Given the description of an element on the screen output the (x, y) to click on. 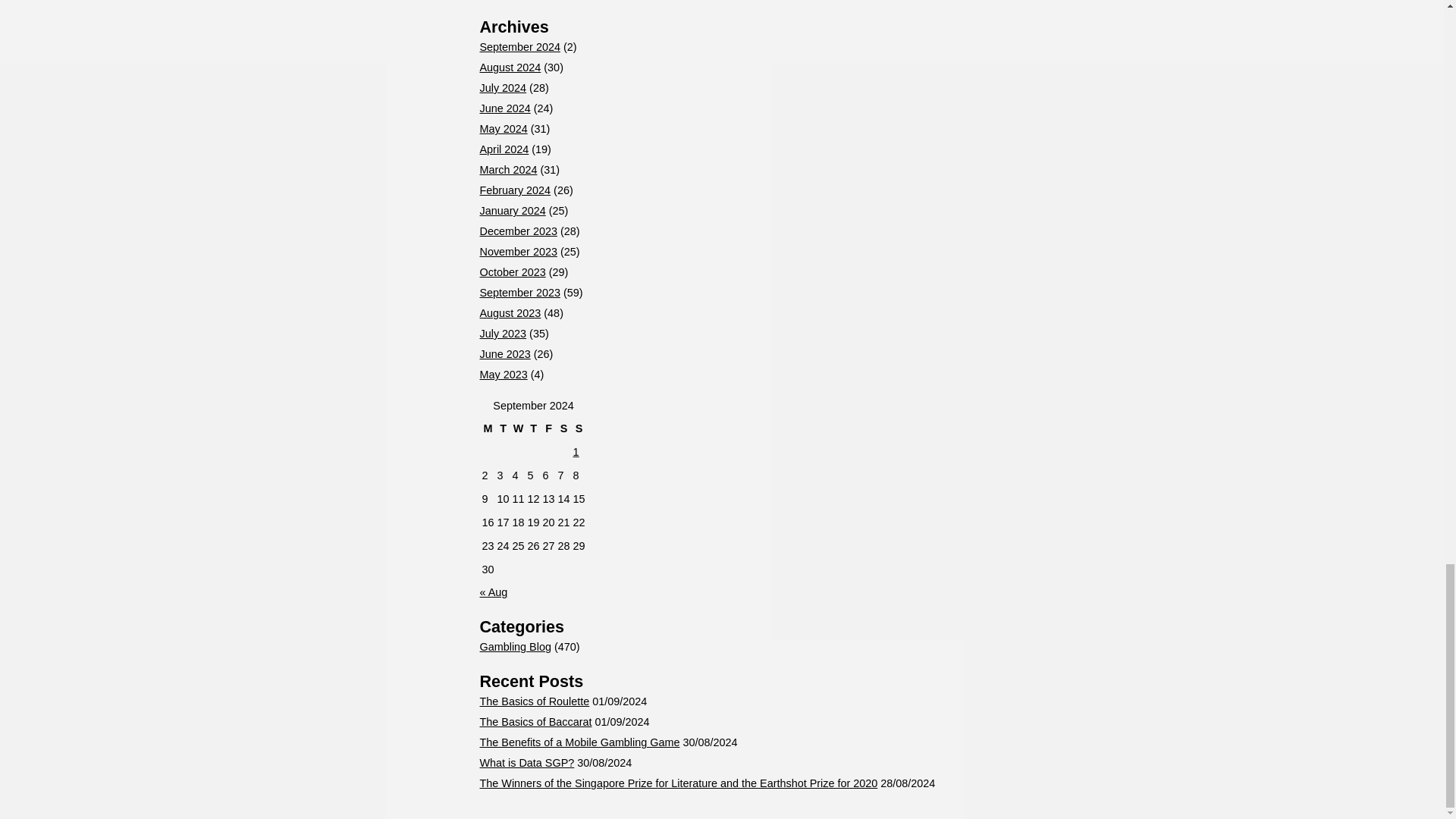
Gambling Blog (514, 646)
July 2024 (502, 87)
January 2024 (511, 210)
The Benefits of a Mobile Gambling Game (579, 742)
September 2024 (519, 46)
June 2024 (504, 108)
May 2023 (503, 374)
July 2023 (502, 333)
What is Data SGP? (526, 762)
May 2024 (503, 128)
